Given the description of an element on the screen output the (x, y) to click on. 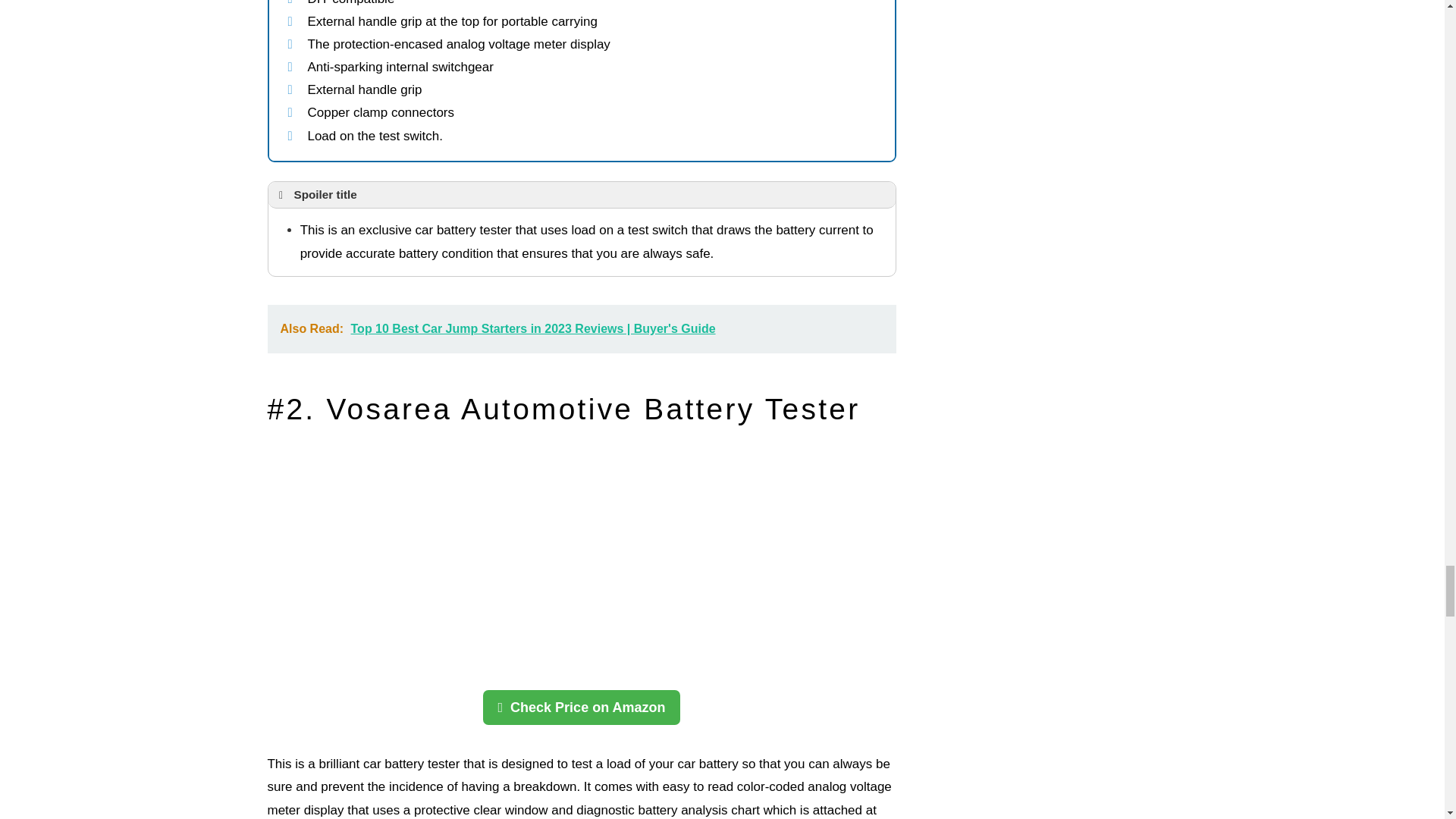
  Check Price on Amazon (581, 707)
